Given the description of an element on the screen output the (x, y) to click on. 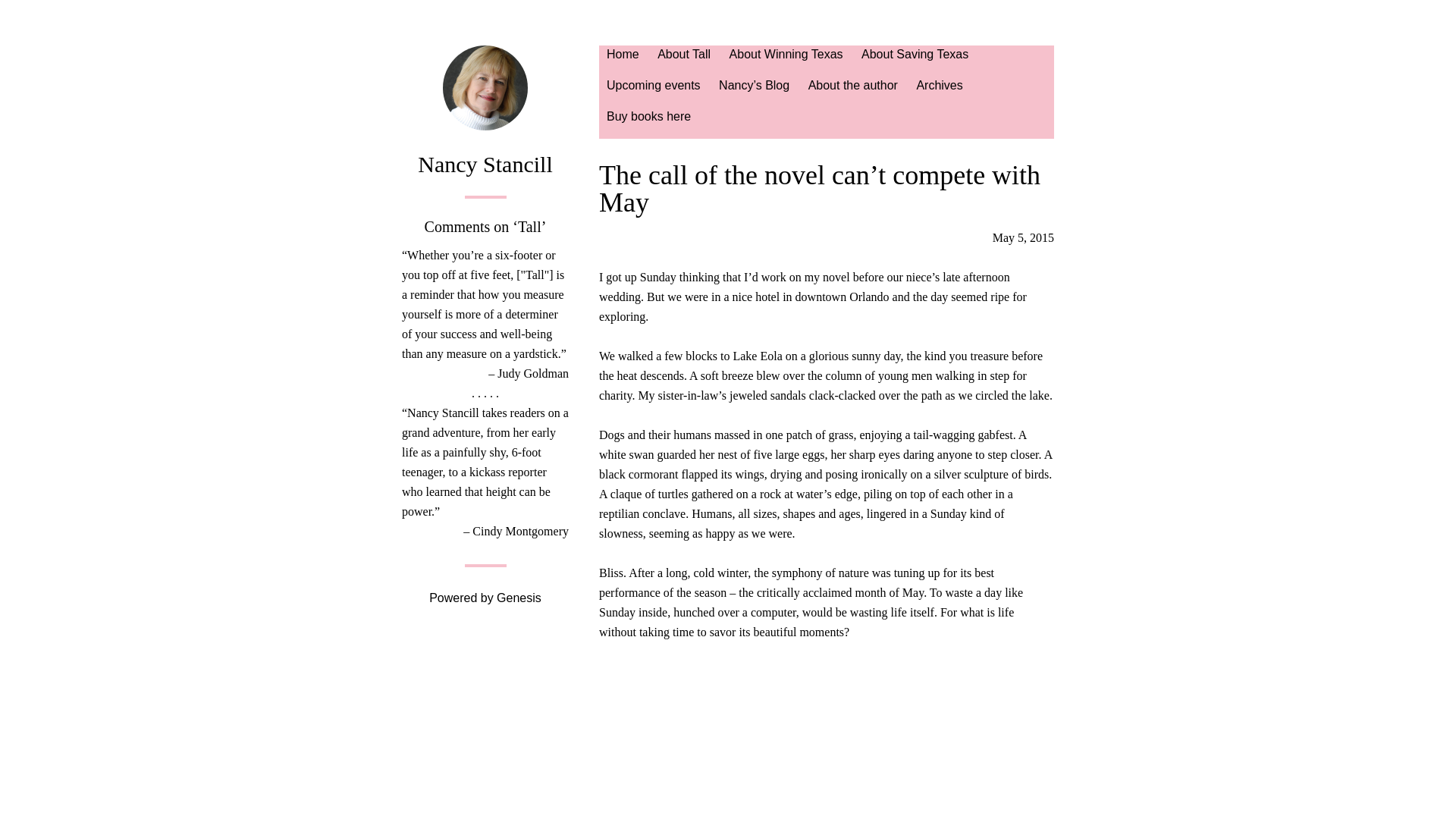
About Saving Texas (914, 60)
Upcoming events (652, 91)
Buy books here (648, 122)
About Winning Texas (786, 60)
Archives (938, 91)
Nancy Stancill (484, 163)
About Tall (683, 60)
Home (622, 60)
Genesis (518, 597)
About the author (852, 91)
